Given the description of an element on the screen output the (x, y) to click on. 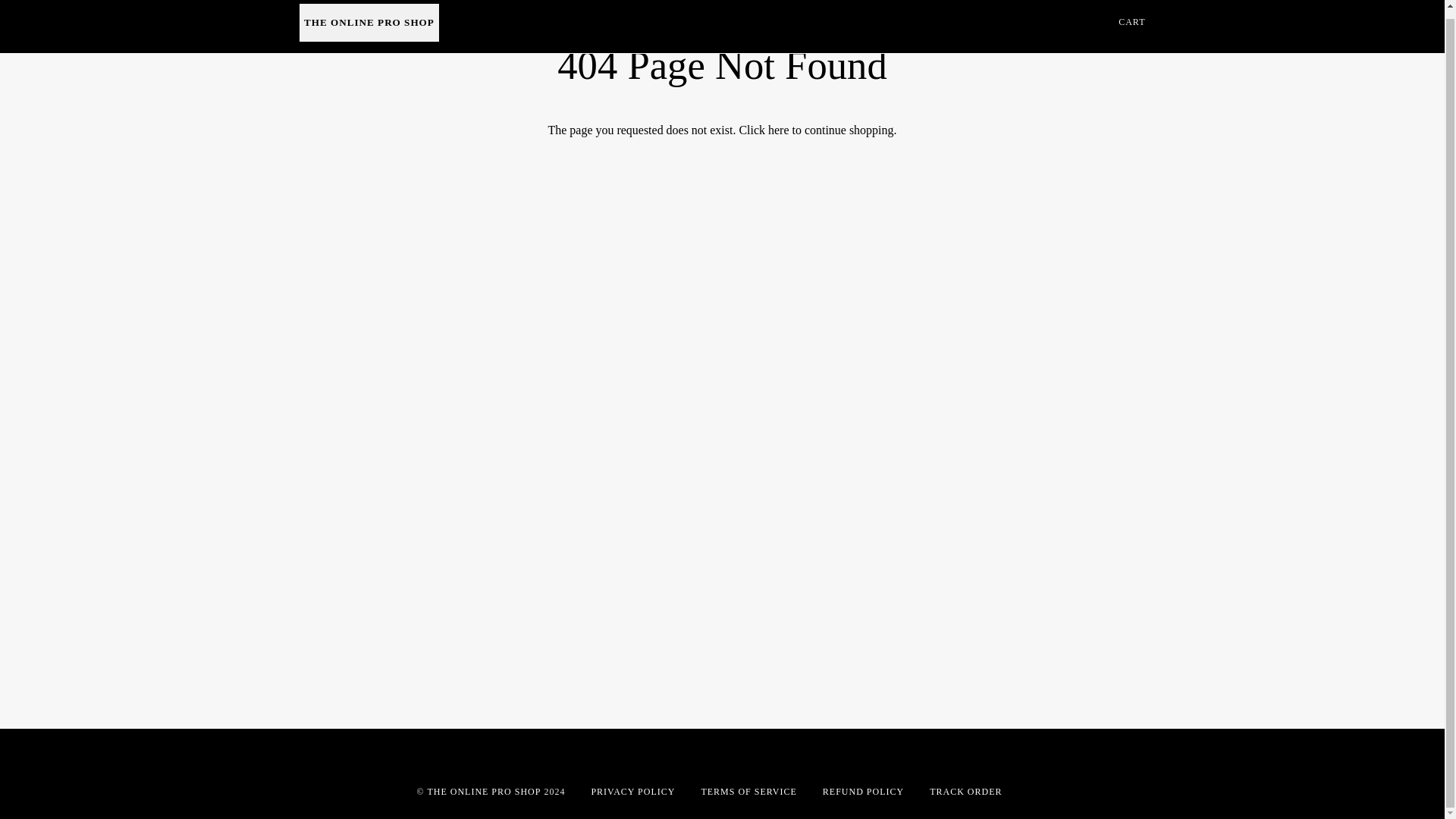
THE ONLINE PRO SHOP (368, 22)
REFUND POLICY (863, 791)
THE ONLINE PRO SHOP (483, 791)
TRACK ORDER (965, 791)
here (778, 129)
TERMS OF SERVICE (748, 791)
CART (1131, 26)
PRIVACY POLICY (633, 791)
